Given the description of an element on the screen output the (x, y) to click on. 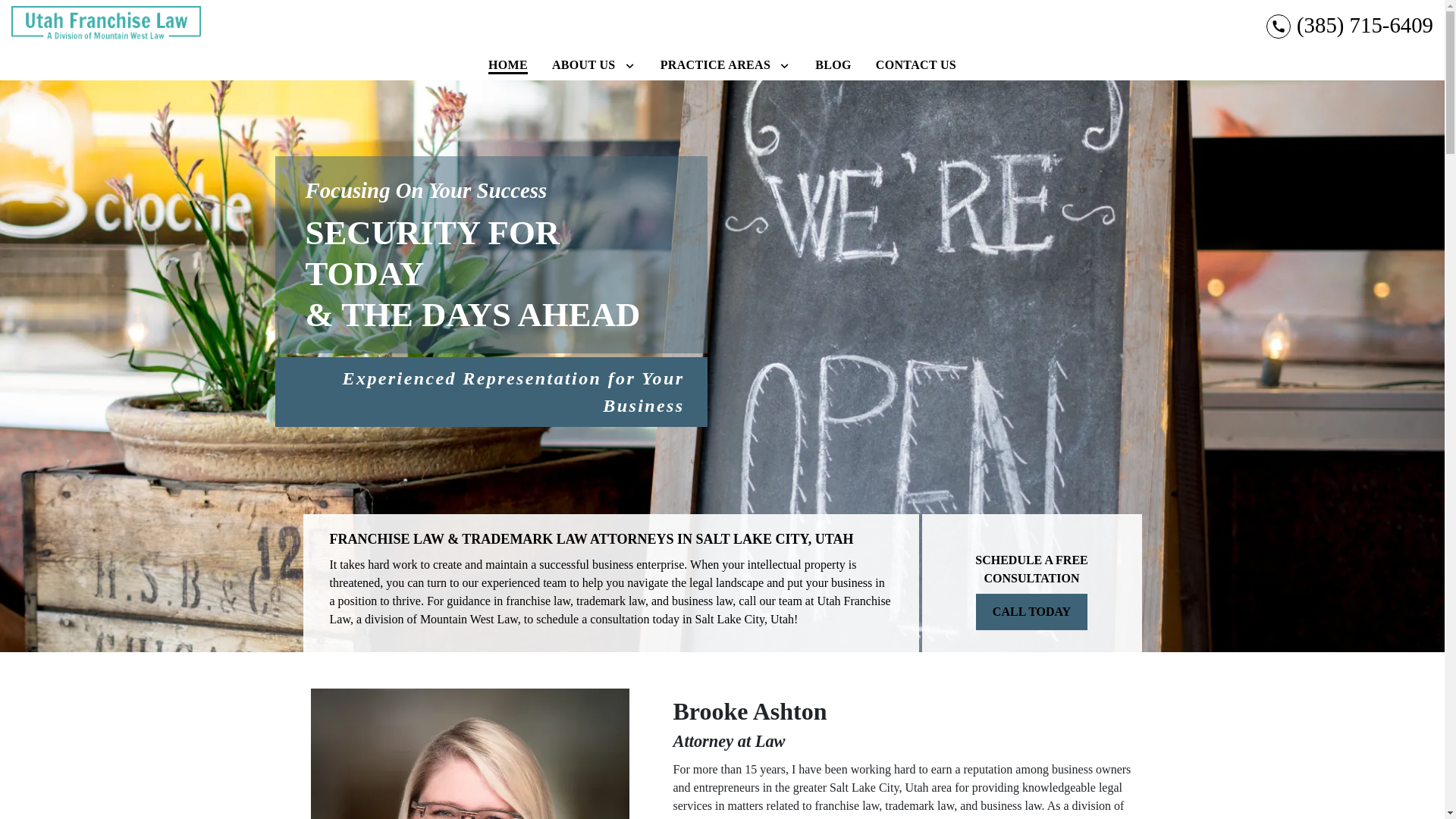
BLOG (833, 64)
CONTACT US (915, 64)
PRACTICE AREAS (714, 64)
HOME (507, 64)
CALL TODAY (1031, 611)
ABOUT US (583, 64)
